Given the description of an element on the screen output the (x, y) to click on. 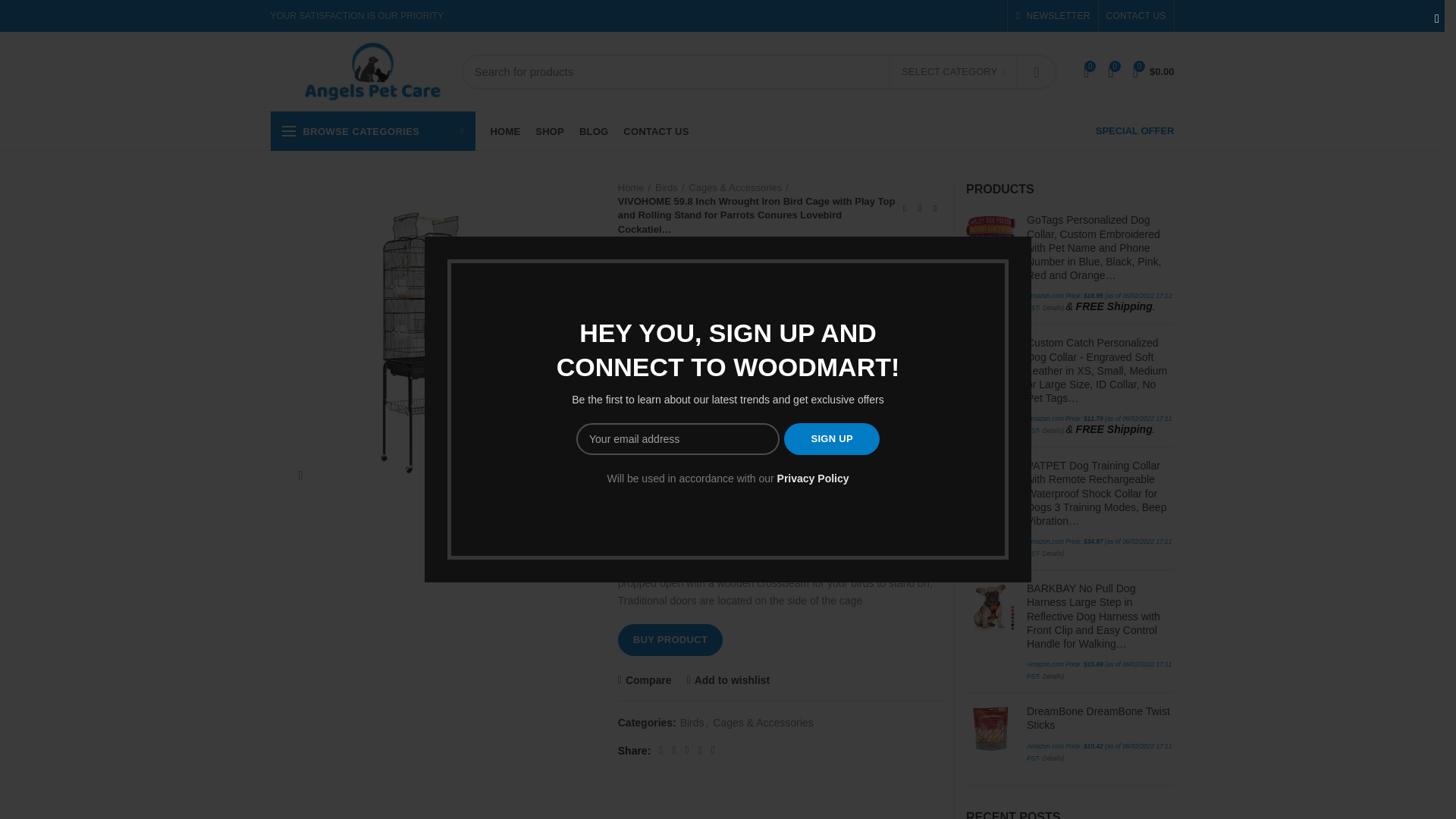
Shopping cart (1153, 71)
Sign up (831, 439)
Privacy Policy (812, 478)
NEWSLETTER (1052, 15)
CONTACT US (1136, 15)
Sign up (831, 439)
SELECT CATEGORY (953, 71)
SELECT CATEGORY (952, 72)
